Given the description of an element on the screen output the (x, y) to click on. 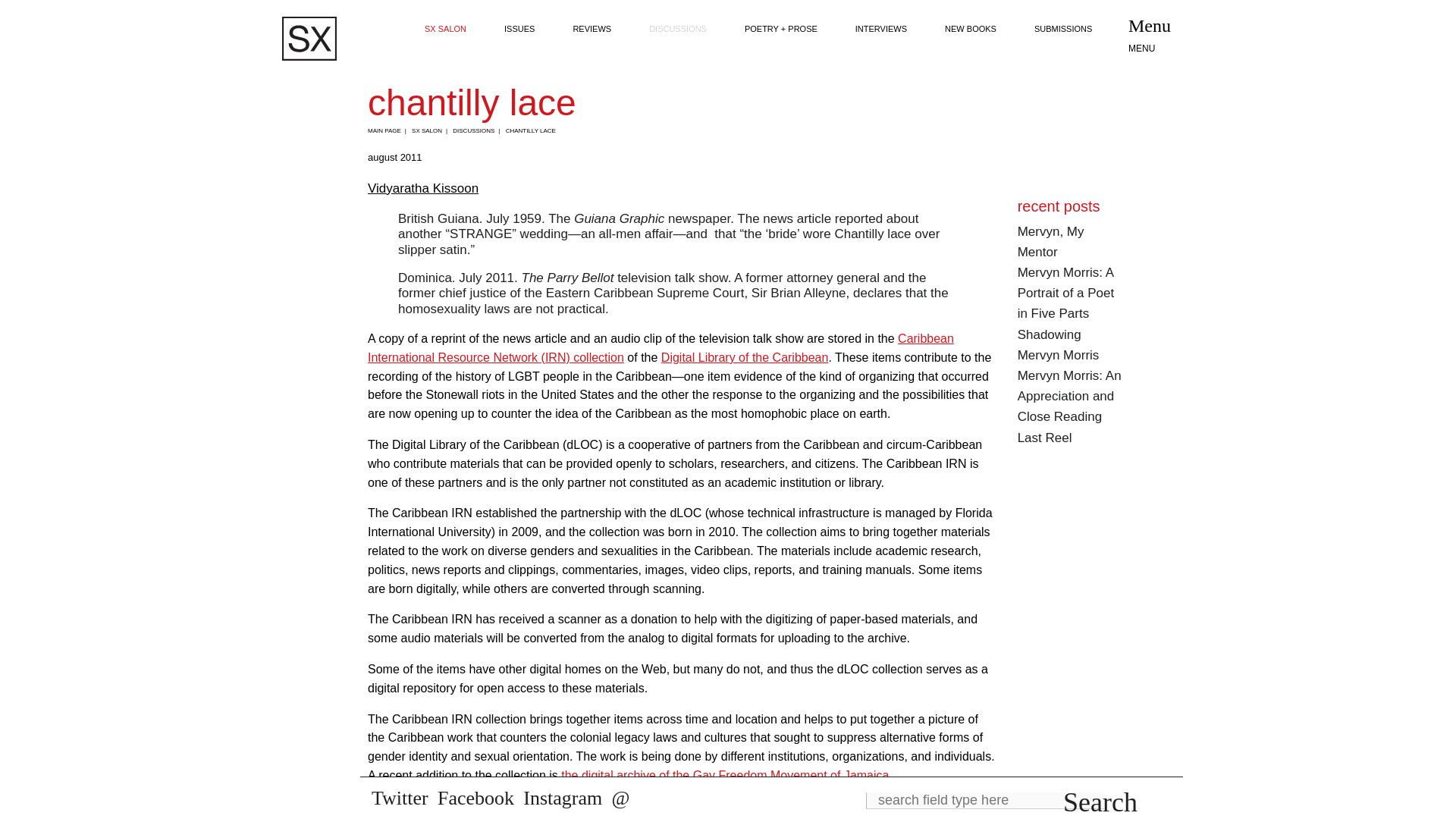
instagram (562, 798)
SX SALON (445, 29)
facebook (475, 798)
DISCUSSIONS (477, 130)
SUBMISSIONS (1062, 29)
NEW BOOKS (969, 29)
Menu (1155, 36)
SX SALON (431, 130)
MAIN PAGE (389, 130)
REVIEWS (591, 29)
Enter the terms you wish to search for. (984, 800)
Digital Library of the Caribbean (744, 357)
the digital archive of the Gay Freedom Movement of Jamaica (724, 775)
ISSUES (518, 29)
